Given the description of an element on the screen output the (x, y) to click on. 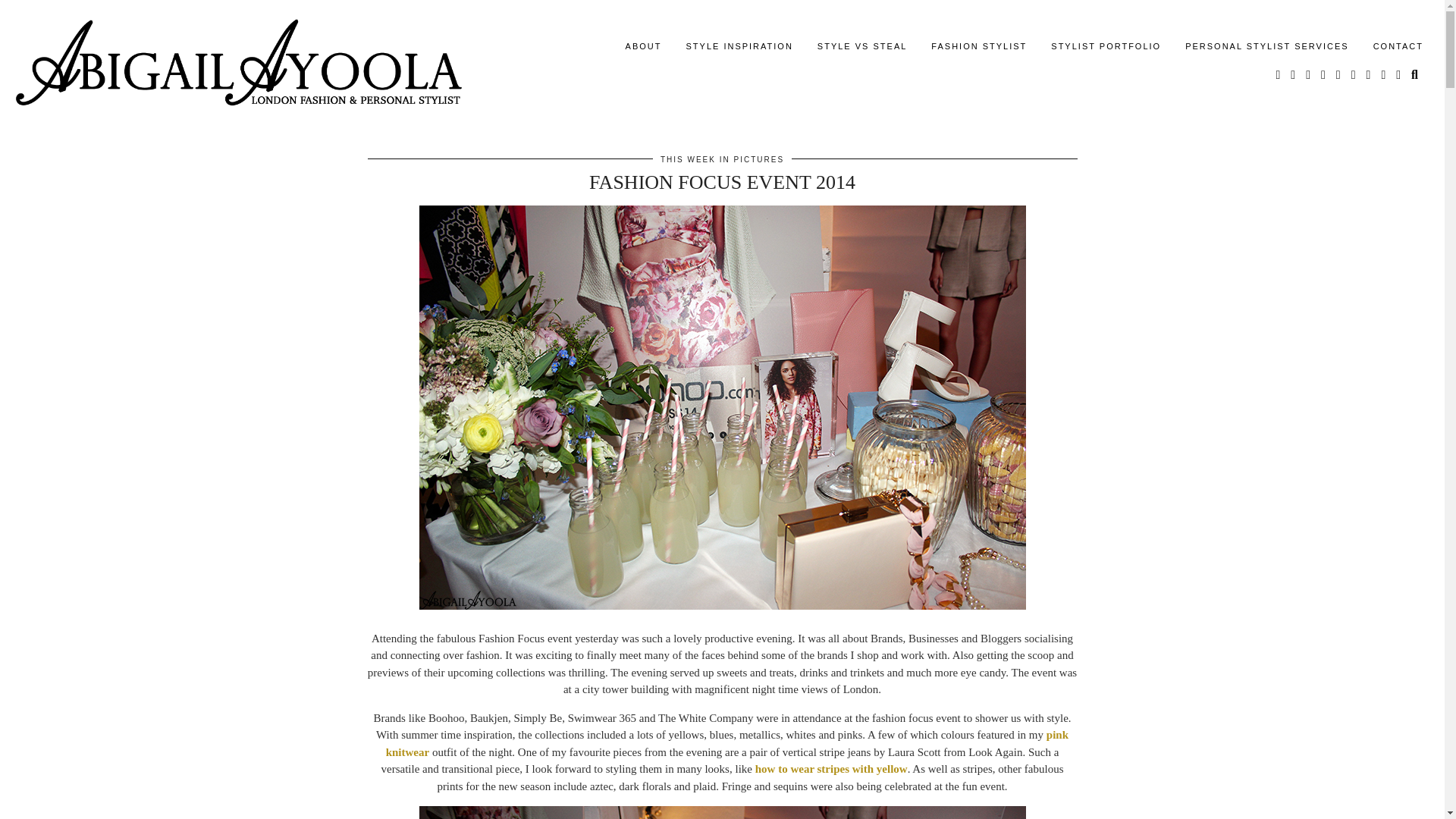
ABOUT (643, 45)
